Given the description of an element on the screen output the (x, y) to click on. 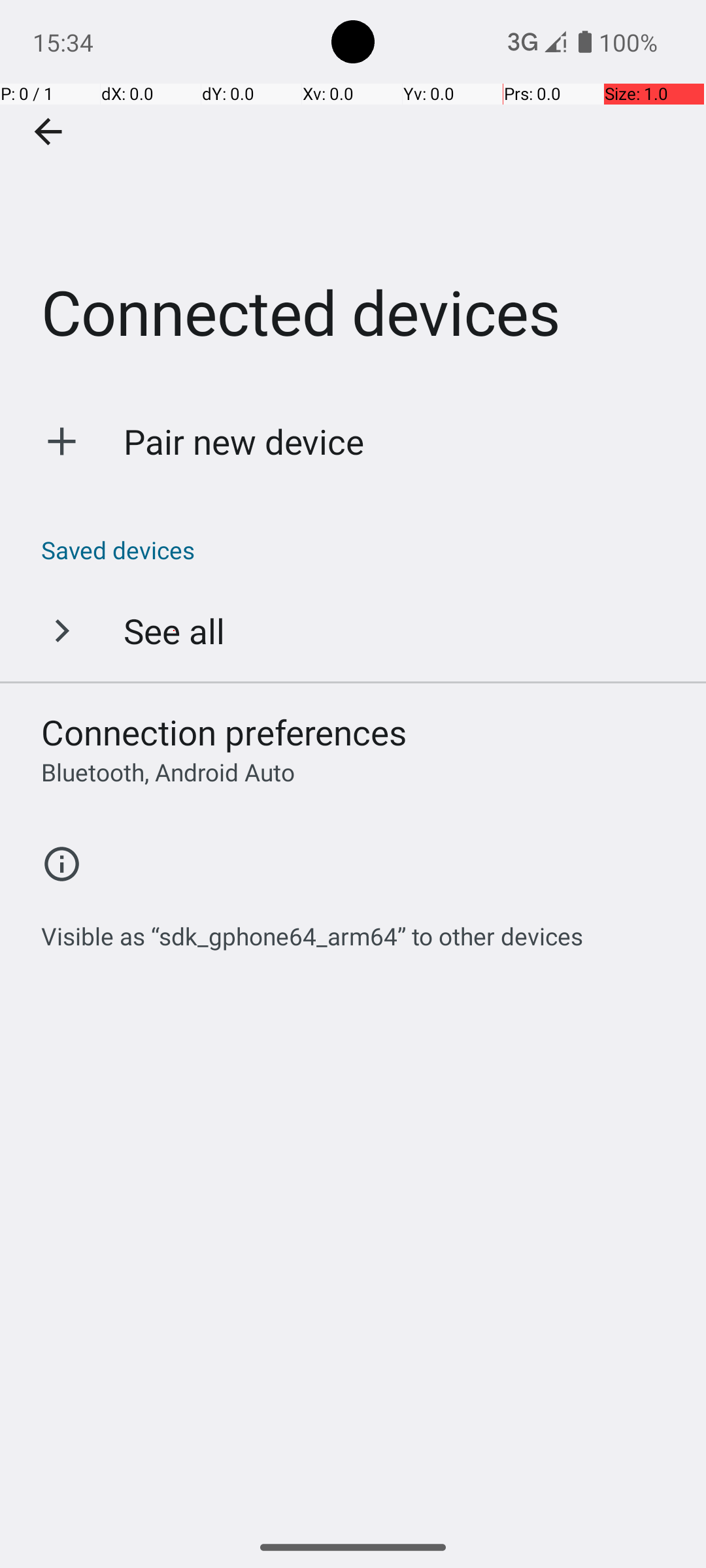
Pair new device Element type: android.widget.TextView (243, 441)
Saved devices Element type: android.widget.TextView (359, 549)
See all Element type: android.widget.TextView (173, 630)
Connection preferences Element type: android.widget.TextView (224, 731)
Bluetooth, Android Auto Element type: android.widget.TextView (167, 771)
Visible as “sdk_gphone64_arm64” to other devices Element type: android.widget.TextView (312, 928)
